Given the description of an element on the screen output the (x, y) to click on. 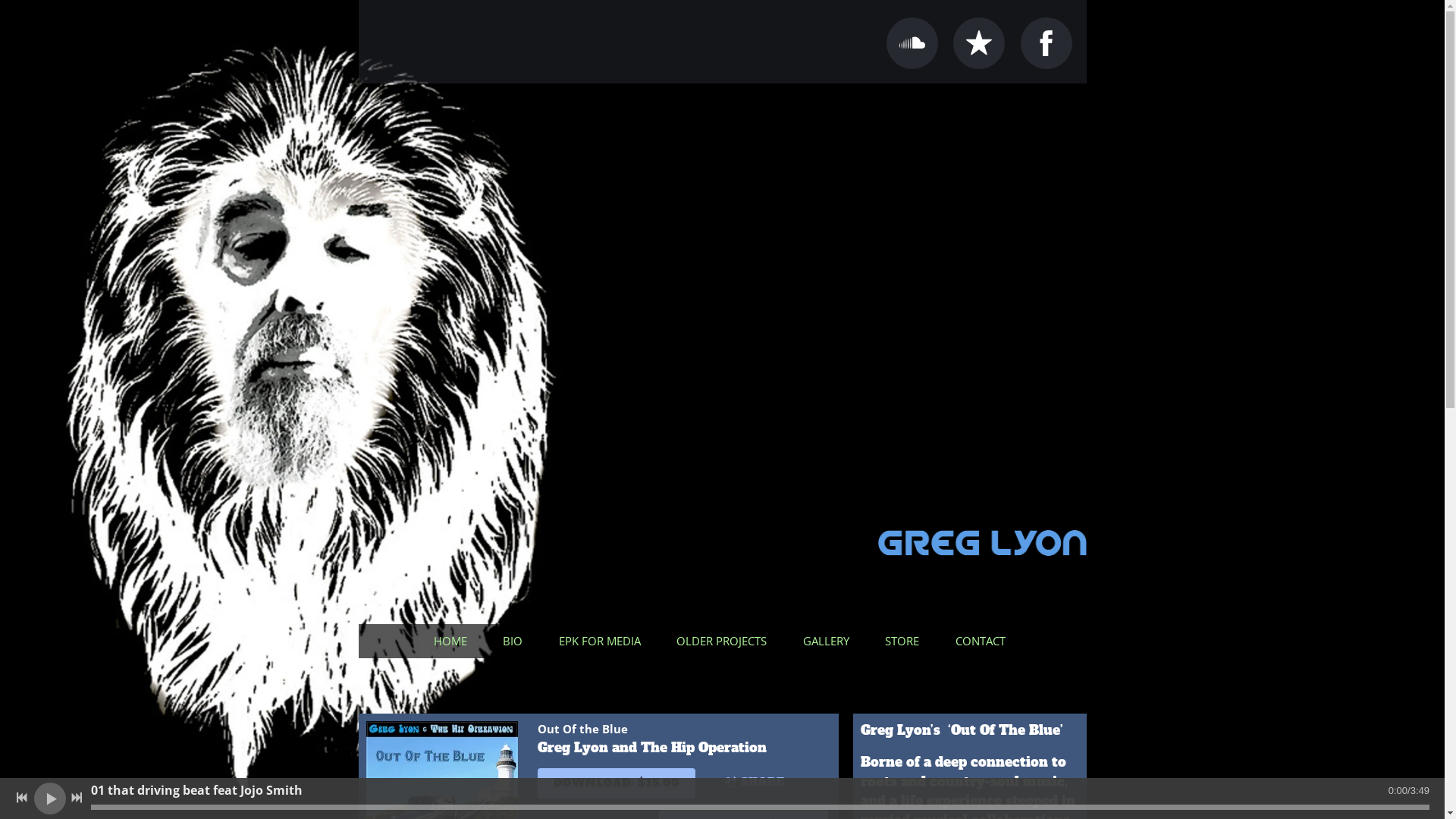
http://itunes.apple.com/au/album/groovin/id885393900 Element type: hover (978, 43)
HOME Element type: text (453, 641)
STORE Element type: text (904, 641)
DOWNLOAD: $15.00 Element type: text (615, 783)
OLDER PROJECTS Element type: text (724, 641)
EPK FOR MEDIA Element type: text (602, 641)
Play Element type: hover (49, 797)
CONTACT Element type: text (983, 641)
BIO Element type: text (515, 641)
SHARE Element type: text (762, 782)
Next track Element type: hover (76, 797)
GALLERY Element type: text (828, 641)
https://facebook.com/greg.lyon.716 Element type: hover (1046, 43)
Previous track Element type: hover (21, 797)
http://soundcloud.com/greglyon Element type: hover (912, 43)
